Given the description of an element on the screen output the (x, y) to click on. 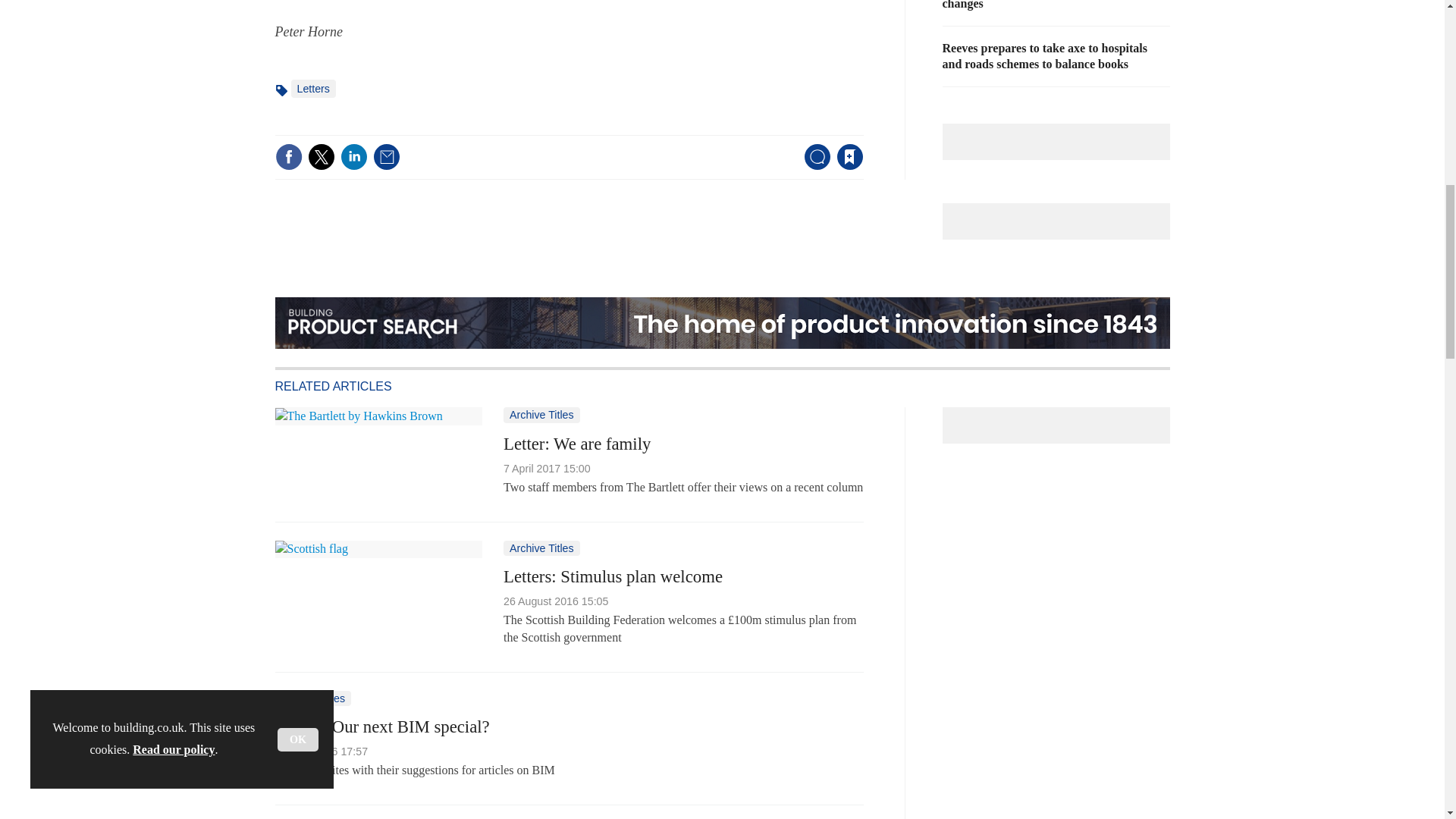
No comments (812, 165)
Share this on Twitter (320, 156)
Share this on Linked in (352, 156)
Share this on Facebook (288, 156)
Email this article (386, 156)
